Given the description of an element on the screen output the (x, y) to click on. 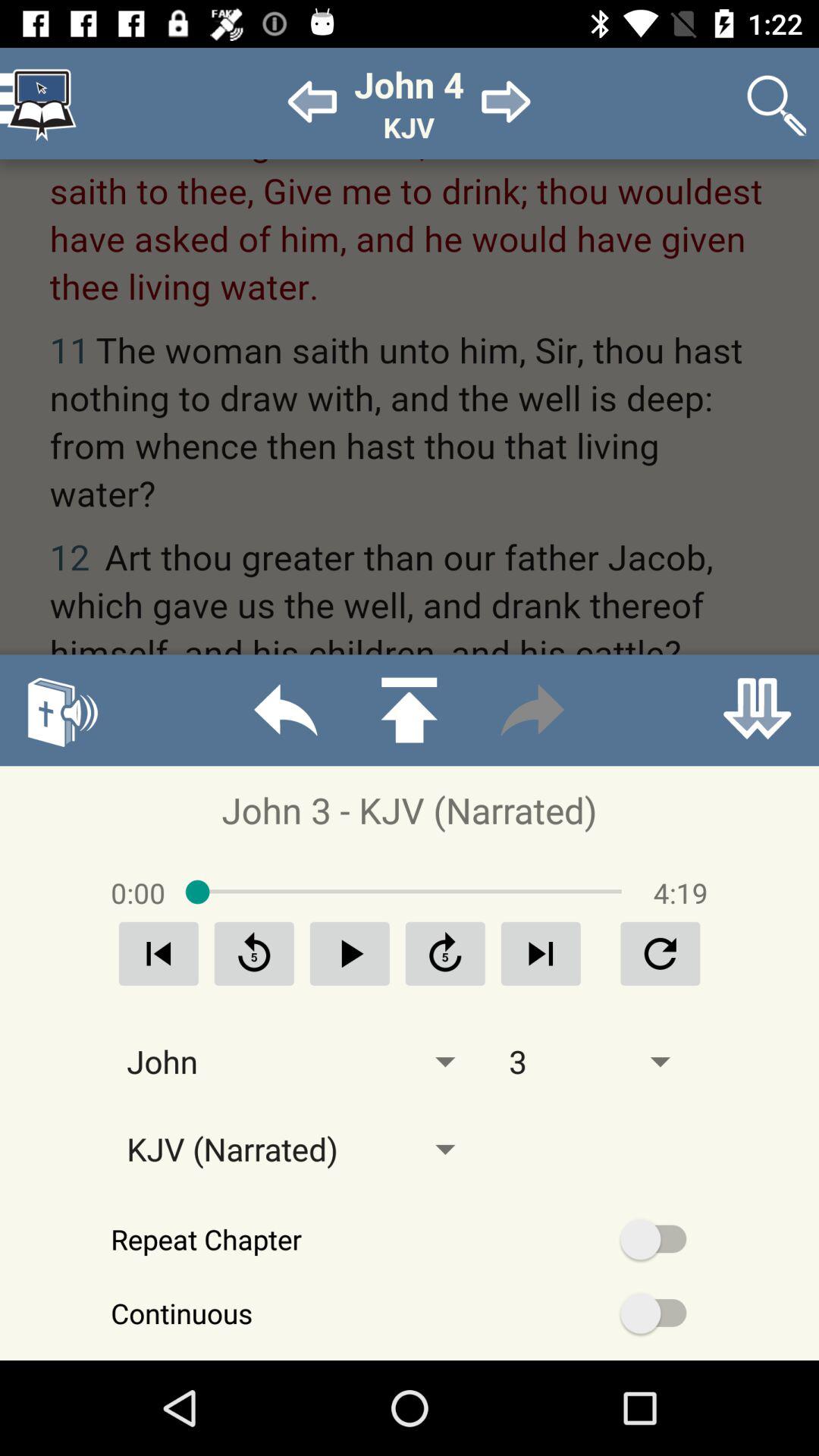
collapse (757, 709)
